Given the description of an element on the screen output the (x, y) to click on. 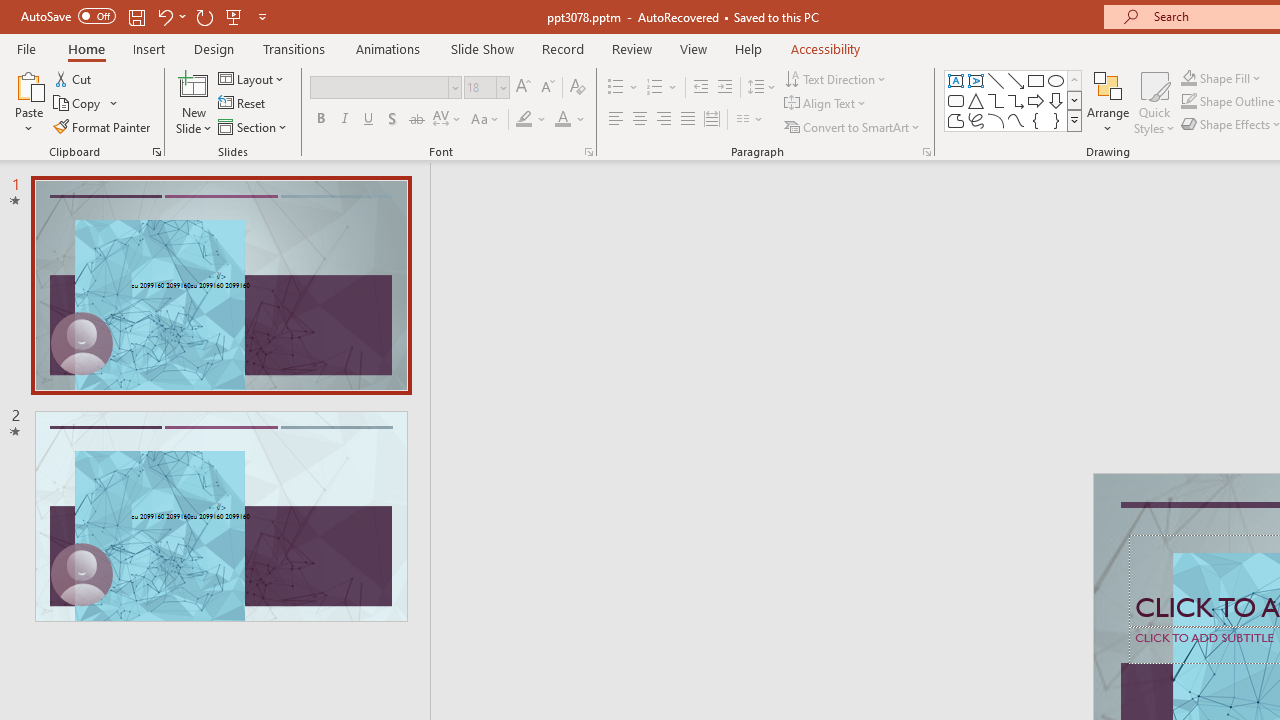
Isosceles Triangle (975, 100)
Line (995, 80)
Increase Font Size (522, 87)
Line Arrow (1016, 80)
Arc (995, 120)
Convert to SmartArt (853, 126)
Shape Fill Dark Green, Accent 2 (1188, 78)
Office Clipboard... (156, 151)
Distributed (712, 119)
